Given the description of an element on the screen output the (x, y) to click on. 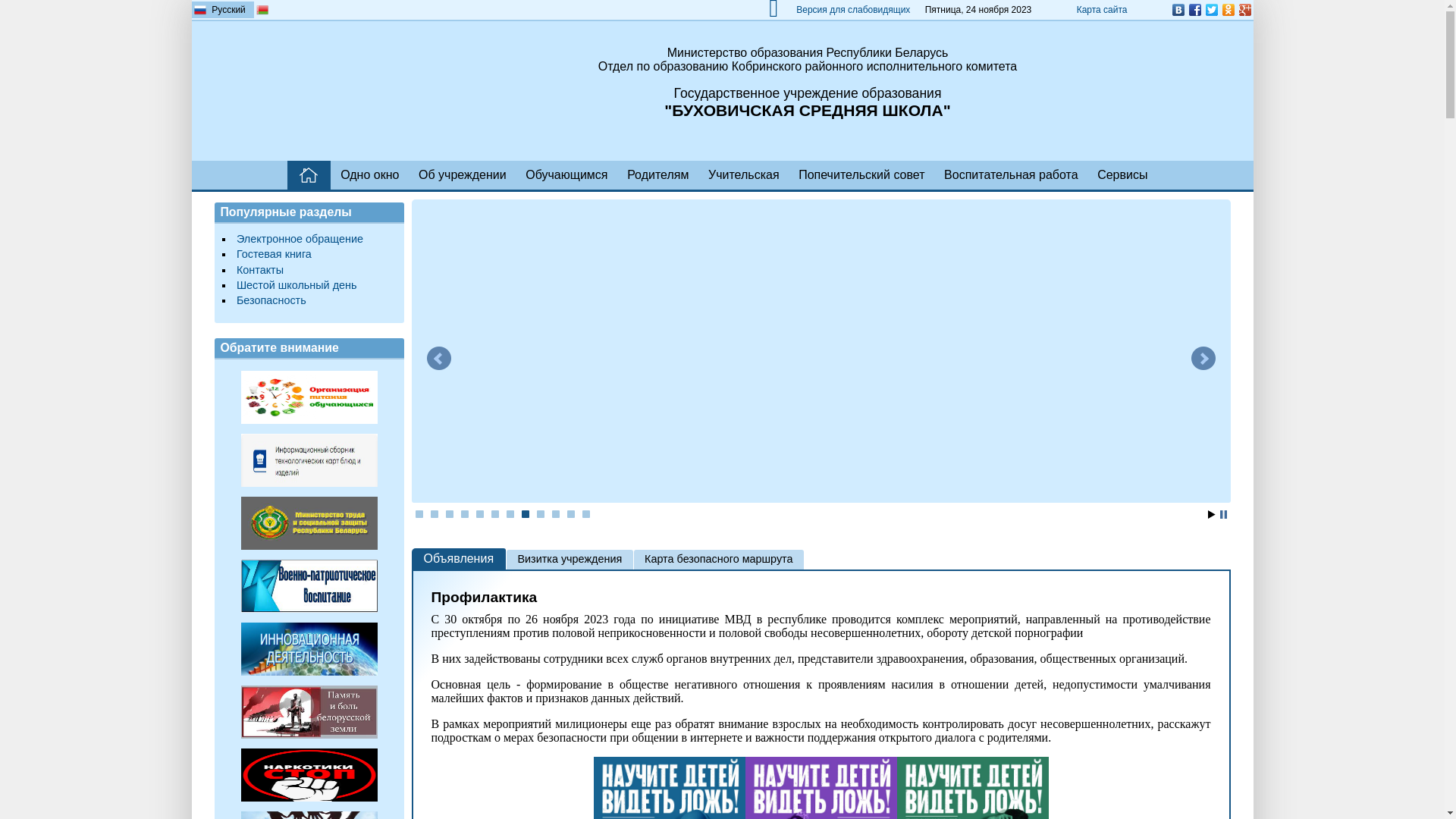
4 Element type: text (464, 513)
10 Element type: text (555, 513)
9 Element type: text (540, 513)
Twitter Element type: hover (1210, 9)
Next Element type: text (1202, 358)
  Element type: text (309, 174)
11 Element type: text (570, 513)
Facebook Element type: hover (1194, 9)
8 Element type: text (525, 513)
Prev Element type: text (438, 358)
12 Element type: text (585, 513)
6 Element type: text (494, 513)
Stop Element type: text (1222, 514)
Start Element type: text (1210, 514)
2 Element type: text (434, 513)
5 Element type: text (479, 513)
Google Plus Element type: hover (1244, 9)
1 Element type: text (419, 513)
7 Element type: text (510, 513)
3 Element type: text (449, 513)
